Given the description of an element on the screen output the (x, y) to click on. 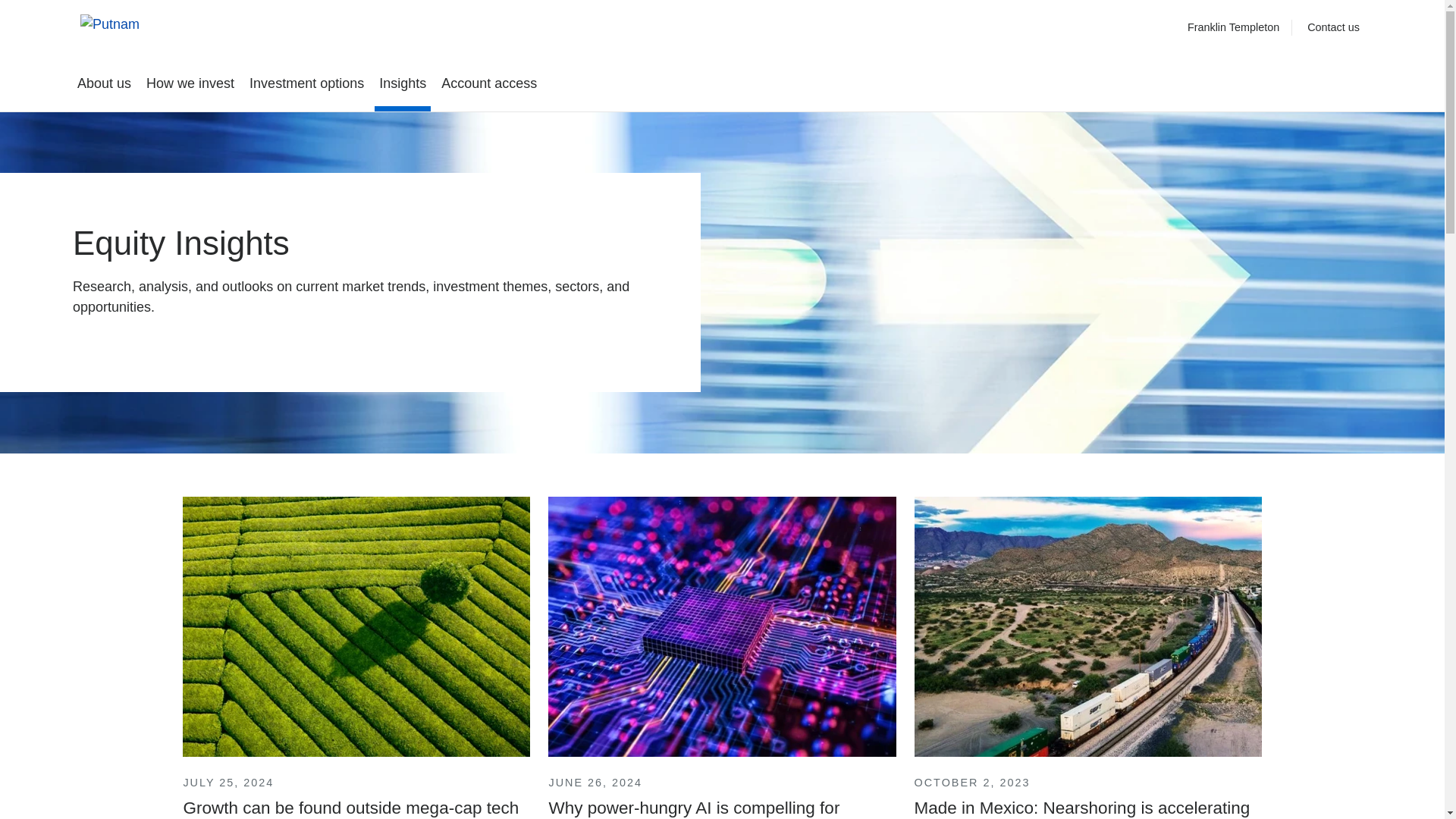
Growth can be found outside mega-cap tech (356, 657)
Investment options (306, 83)
Franklin Templeton (1233, 27)
Contact us (1333, 27)
Account access (488, 83)
About us (103, 83)
Insights (402, 83)
Made in Mexico: Nearshoring is accelerating growth (1088, 657)
